Given the description of an element on the screen output the (x, y) to click on. 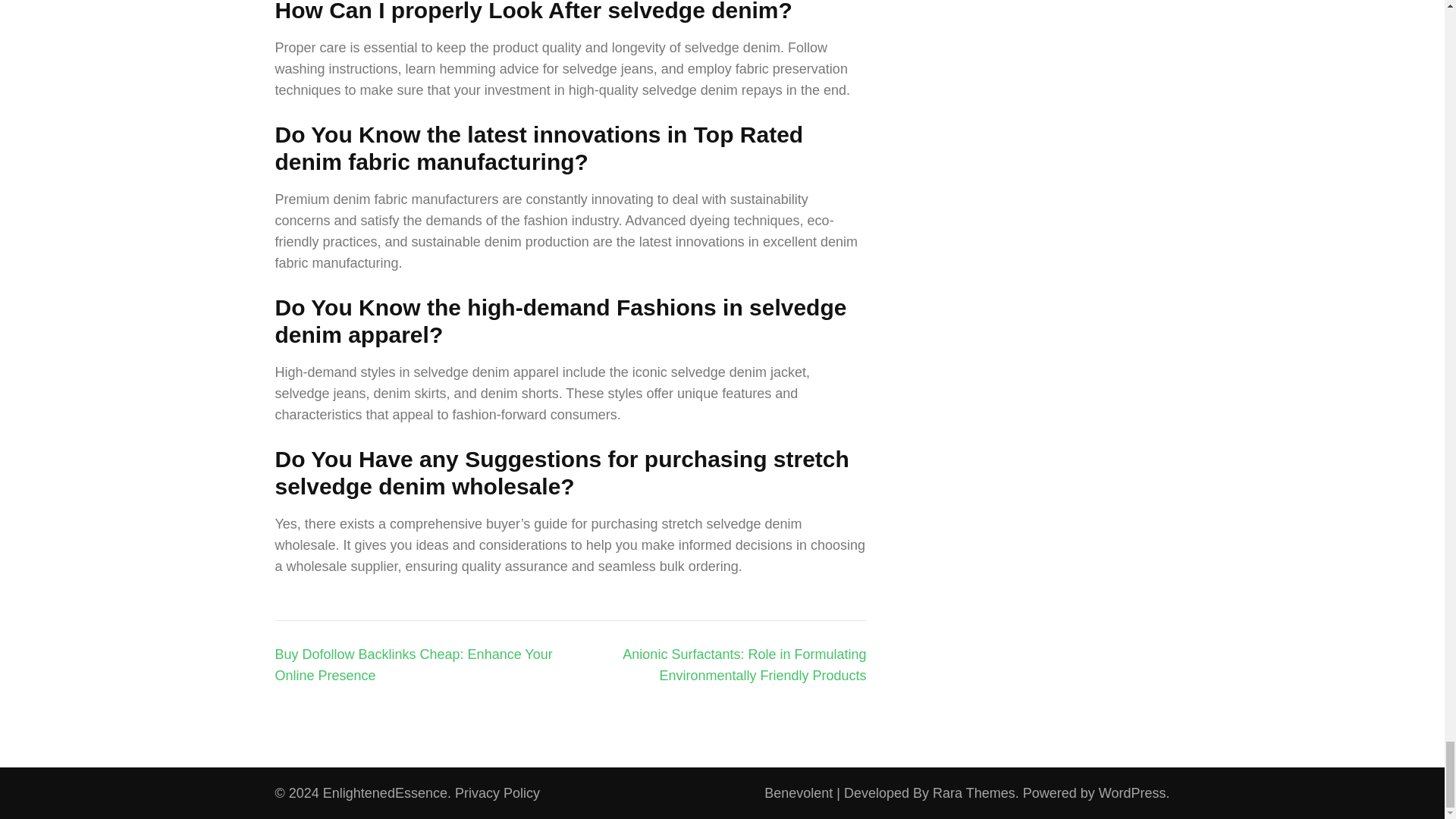
Buy Dofollow Backlinks Cheap: Enhance Your Online Presence (413, 665)
